Given the description of an element on the screen output the (x, y) to click on. 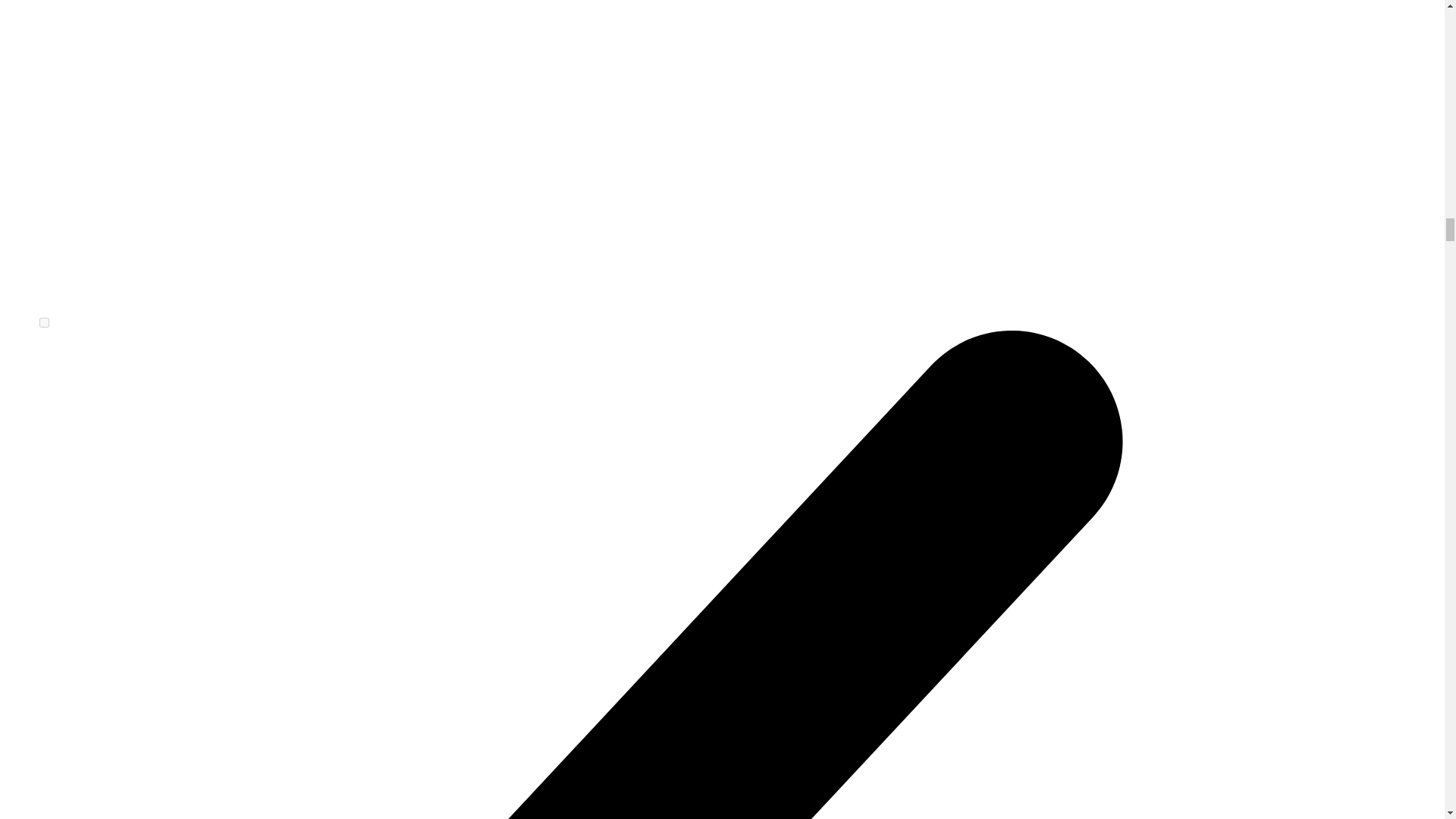
on (44, 322)
